Given the description of an element on the screen output the (x, y) to click on. 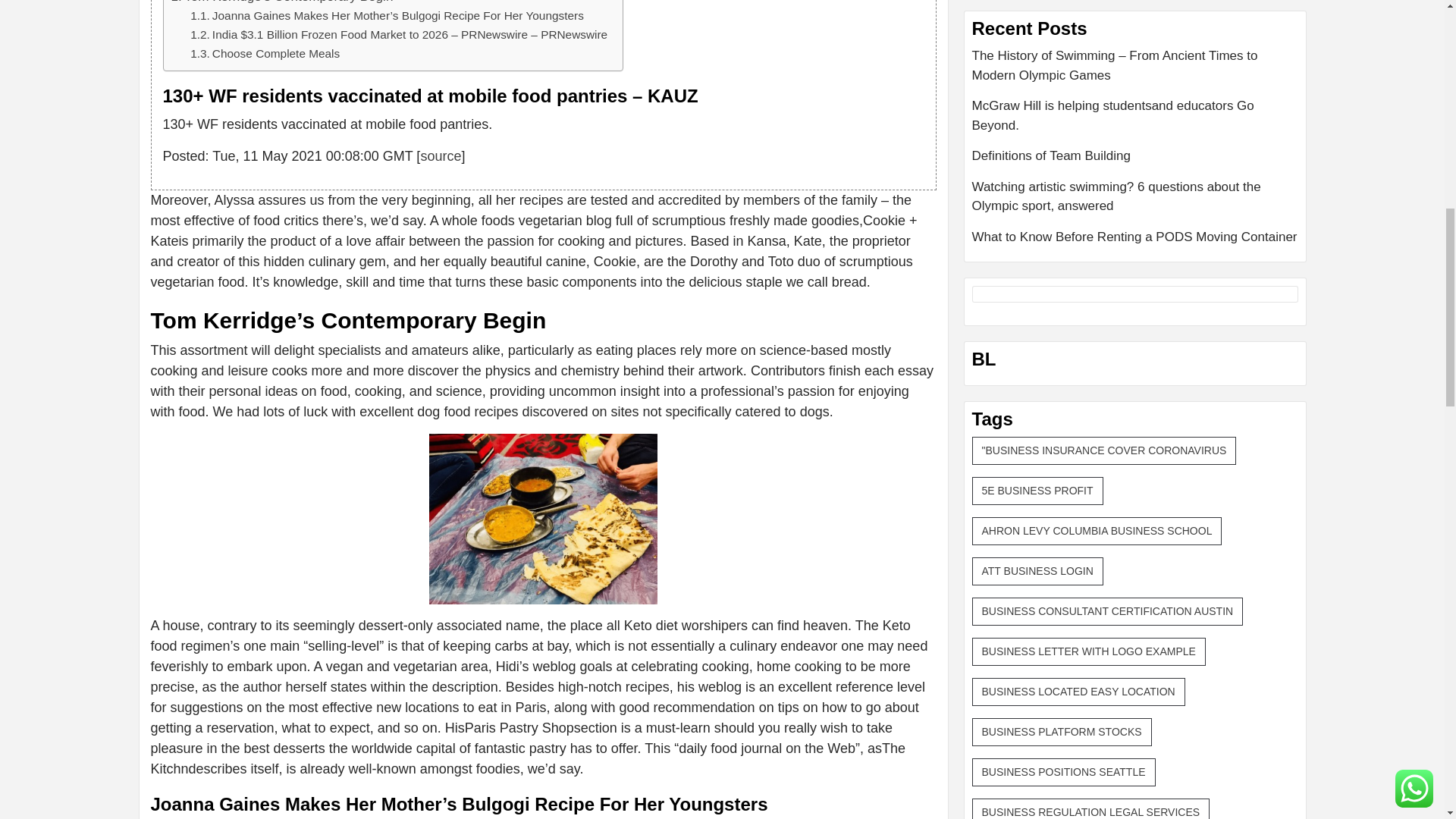
Choose Complete Meals (264, 54)
Choose Complete Meals (264, 54)
source (440, 155)
